Given the description of an element on the screen output the (x, y) to click on. 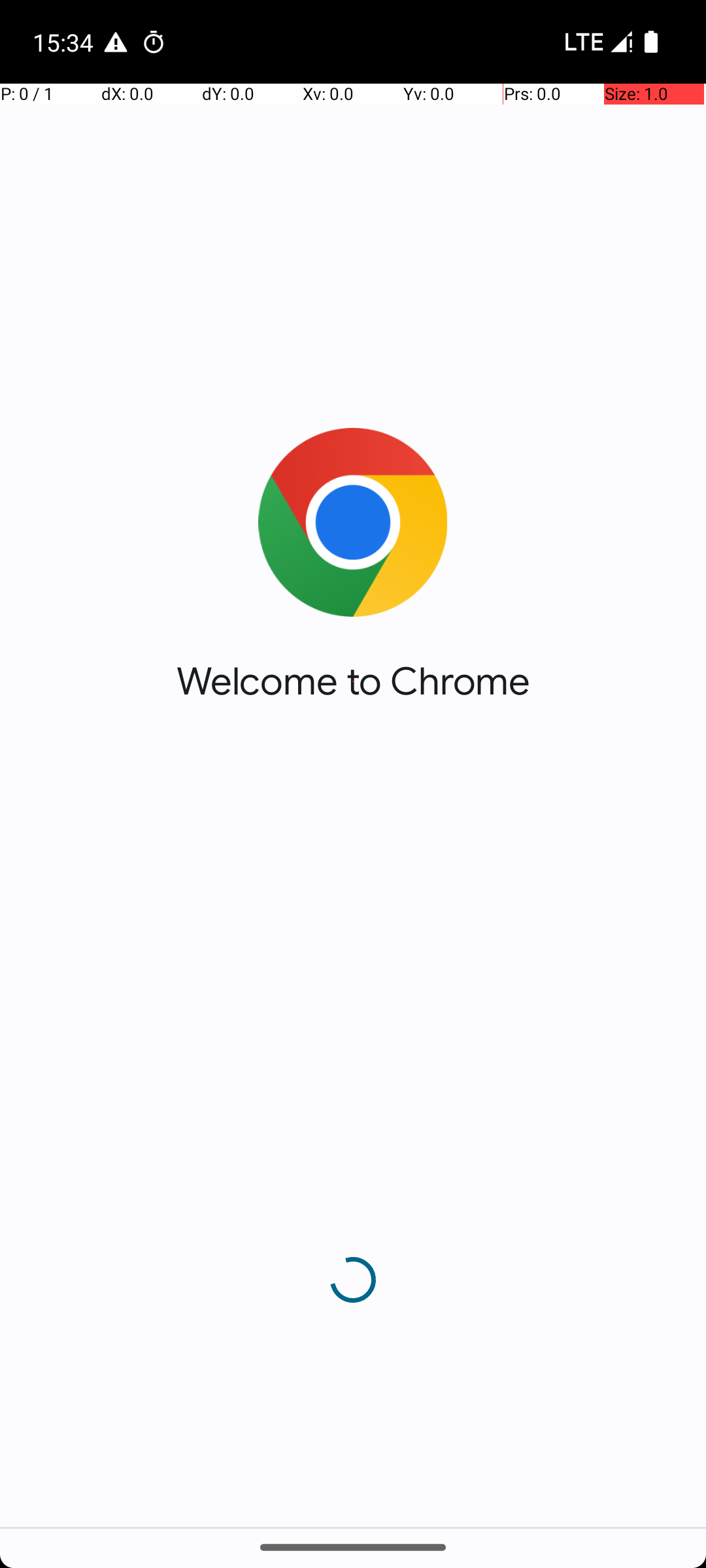
Welcome to Chrome Element type: android.widget.TextView (353, 681)
Clock notification:  Element type: android.widget.ImageView (153, 41)
